Given the description of an element on the screen output the (x, y) to click on. 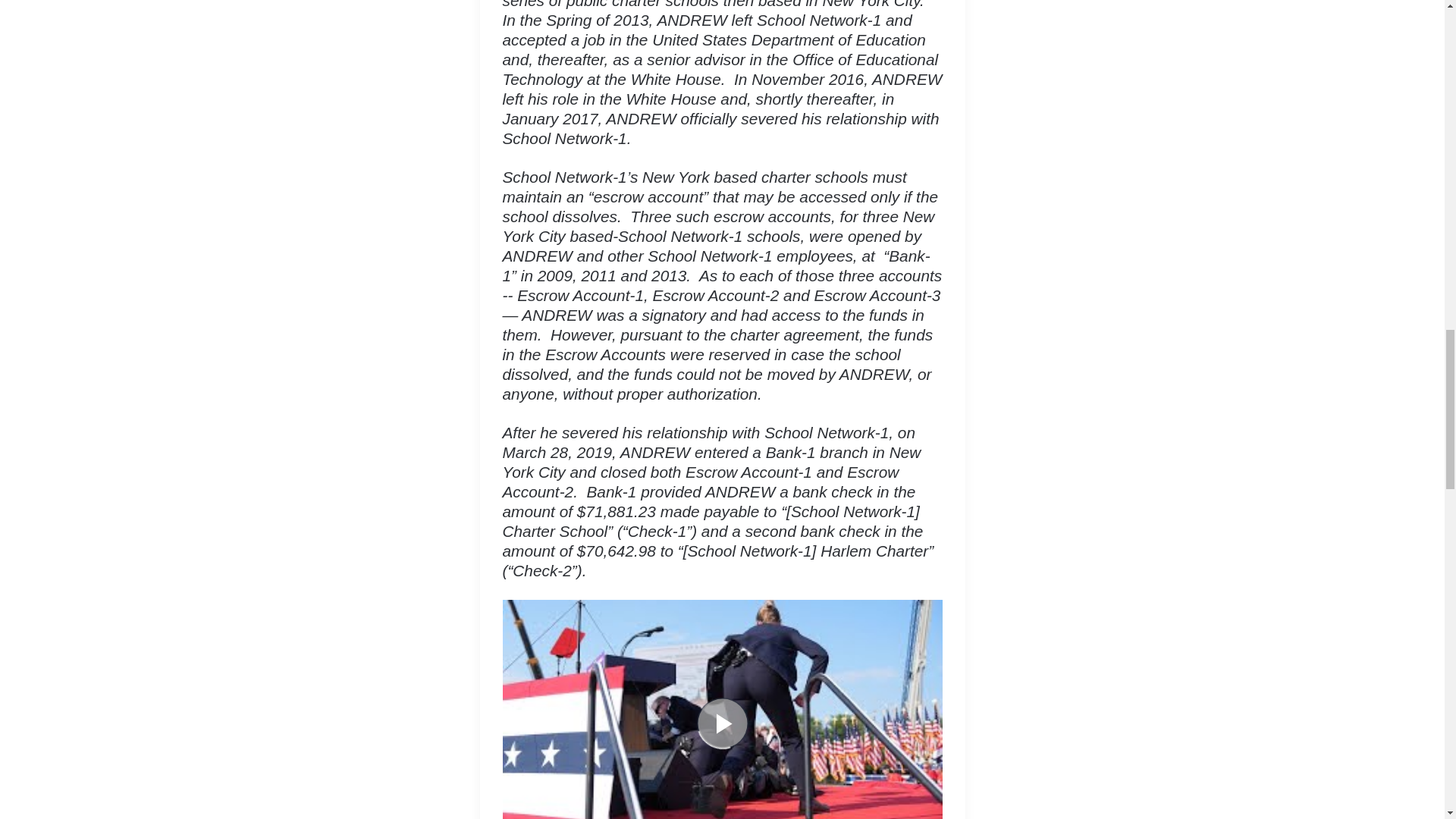
Play (721, 723)
Play (721, 723)
